Given the description of an element on the screen output the (x, y) to click on. 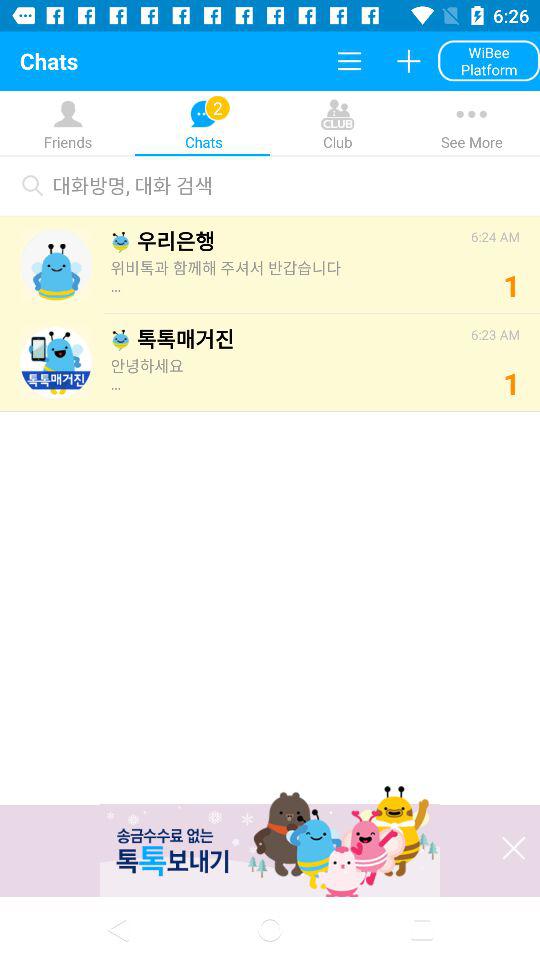
club (269, 143)
select image which is at the bottom of the page (269, 844)
select the second option (269, 359)
